Given the description of an element on the screen output the (x, y) to click on. 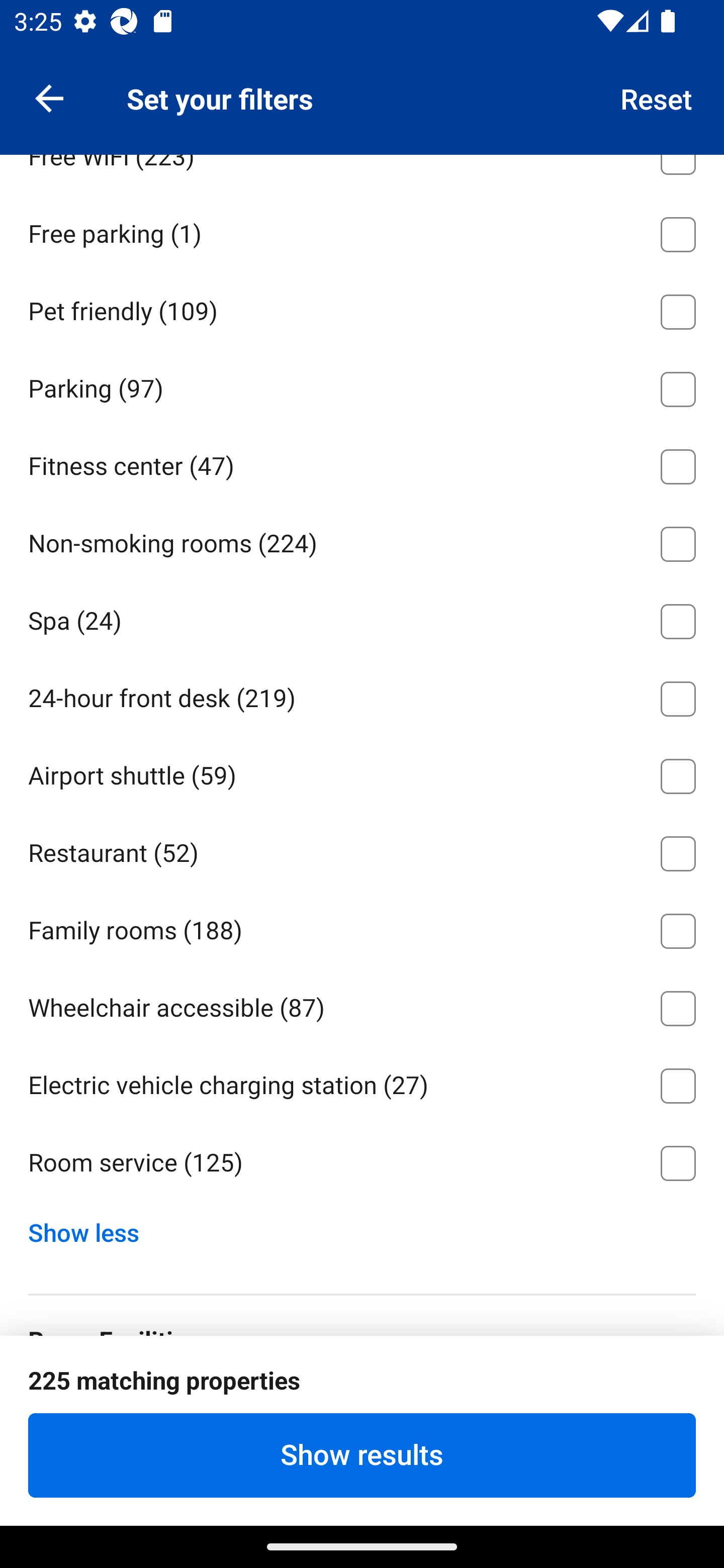
Swimming pool ⁦(17) (361, 75)
Navigate up (49, 97)
Reset (656, 97)
Free parking ⁦(1) (361, 230)
Pet friendly ⁦(109) (361, 307)
Parking ⁦(97) (361, 385)
Fitness center ⁦(47) (361, 462)
Non-smoking rooms ⁦(224) (361, 540)
Spa ⁦(24) (361, 618)
24-hour front desk ⁦(219) (361, 694)
Airport shuttle ⁦(59) (361, 772)
Restaurant ⁦(52) (361, 850)
Family rooms ⁦(188) (361, 927)
Wheelchair accessible ⁦(87) (361, 1004)
Electric vehicle charging station ⁦(27) (361, 1082)
Room service ⁦(125) (361, 1163)
Show less (90, 1228)
Show results (361, 1454)
